Given the description of an element on the screen output the (x, y) to click on. 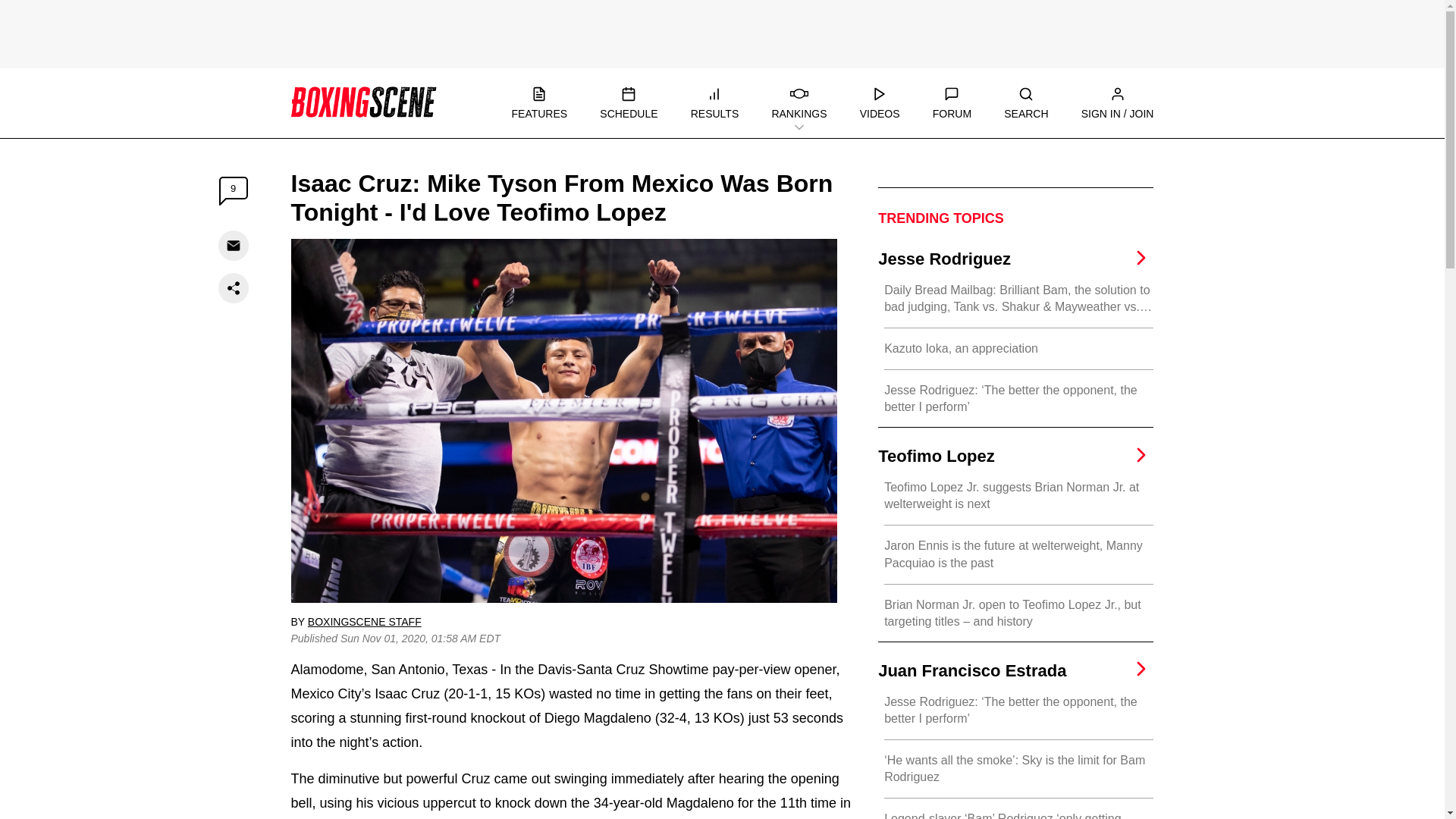
VIDEOS (879, 102)
FORUM (952, 102)
BOXINGSCENE STAFF (364, 621)
SCHEDULE (628, 102)
RANKINGS (799, 102)
9 (233, 191)
FEATURES (539, 102)
SEARCH (1026, 102)
RESULTS (714, 102)
